Given the description of an element on the screen output the (x, y) to click on. 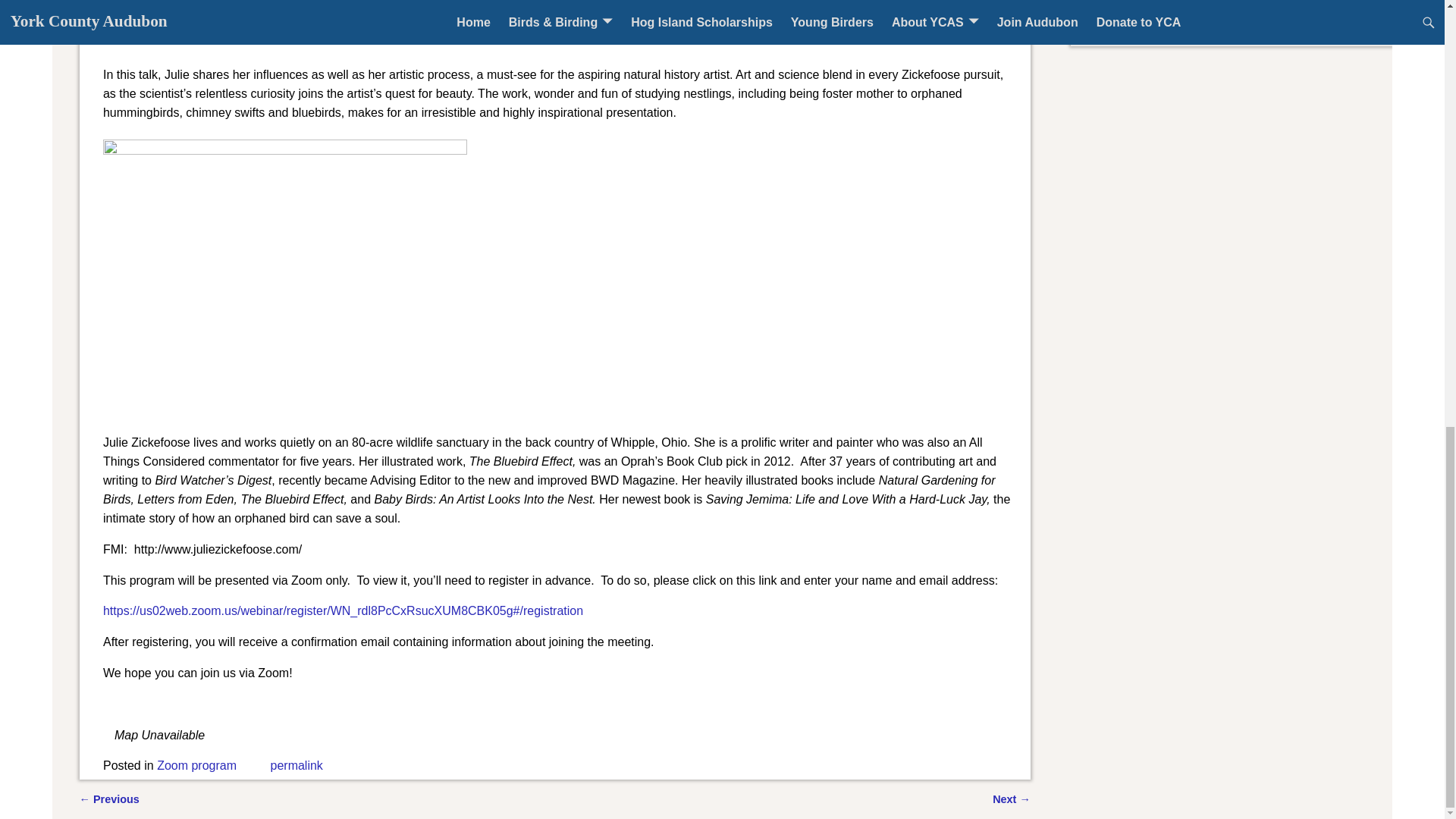
permalink (295, 765)
View all posts in Zoom program (196, 765)
Zoom program (196, 765)
